Given the description of an element on the screen output the (x, y) to click on. 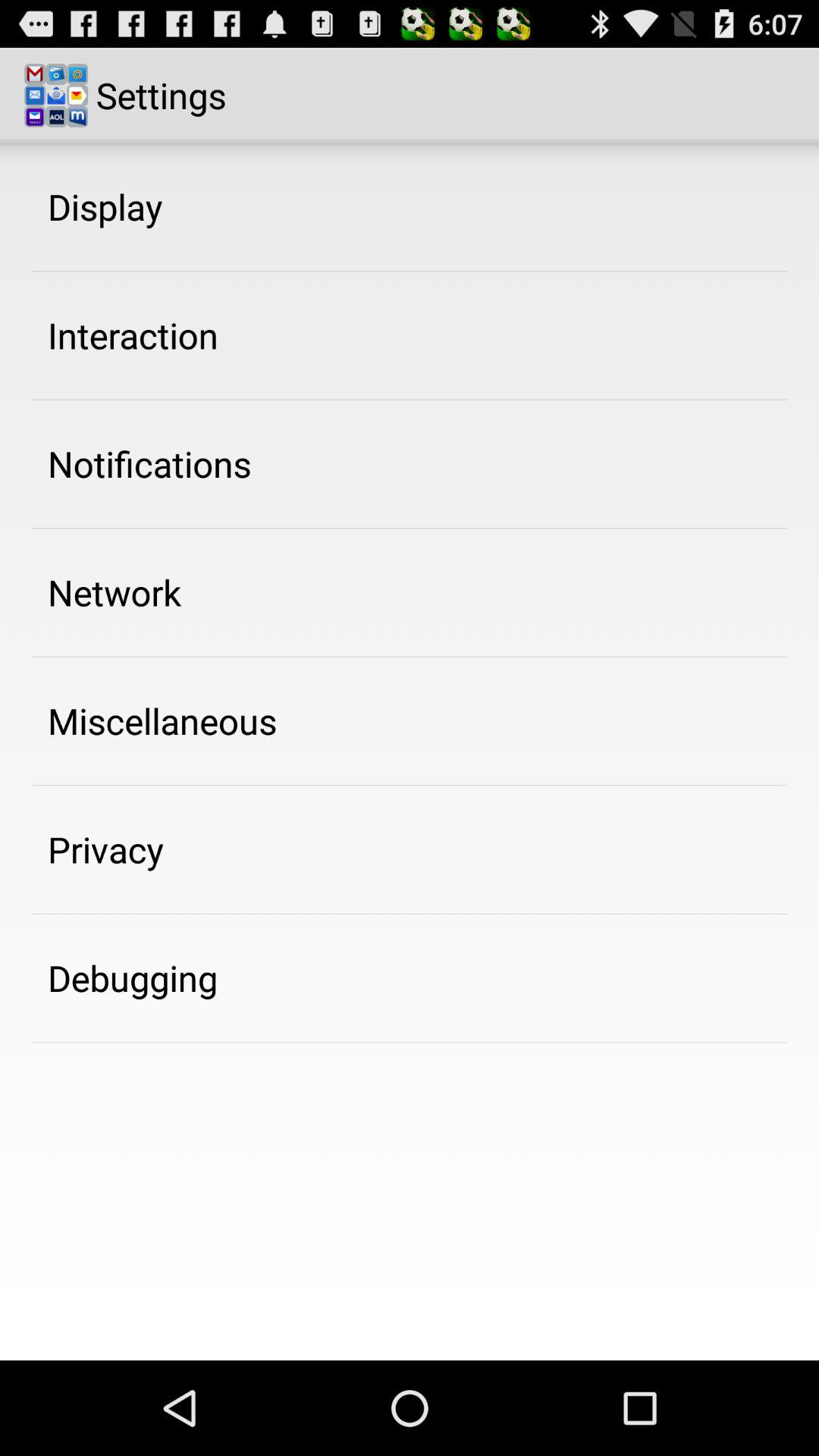
choose privacy icon (105, 849)
